Given the description of an element on the screen output the (x, y) to click on. 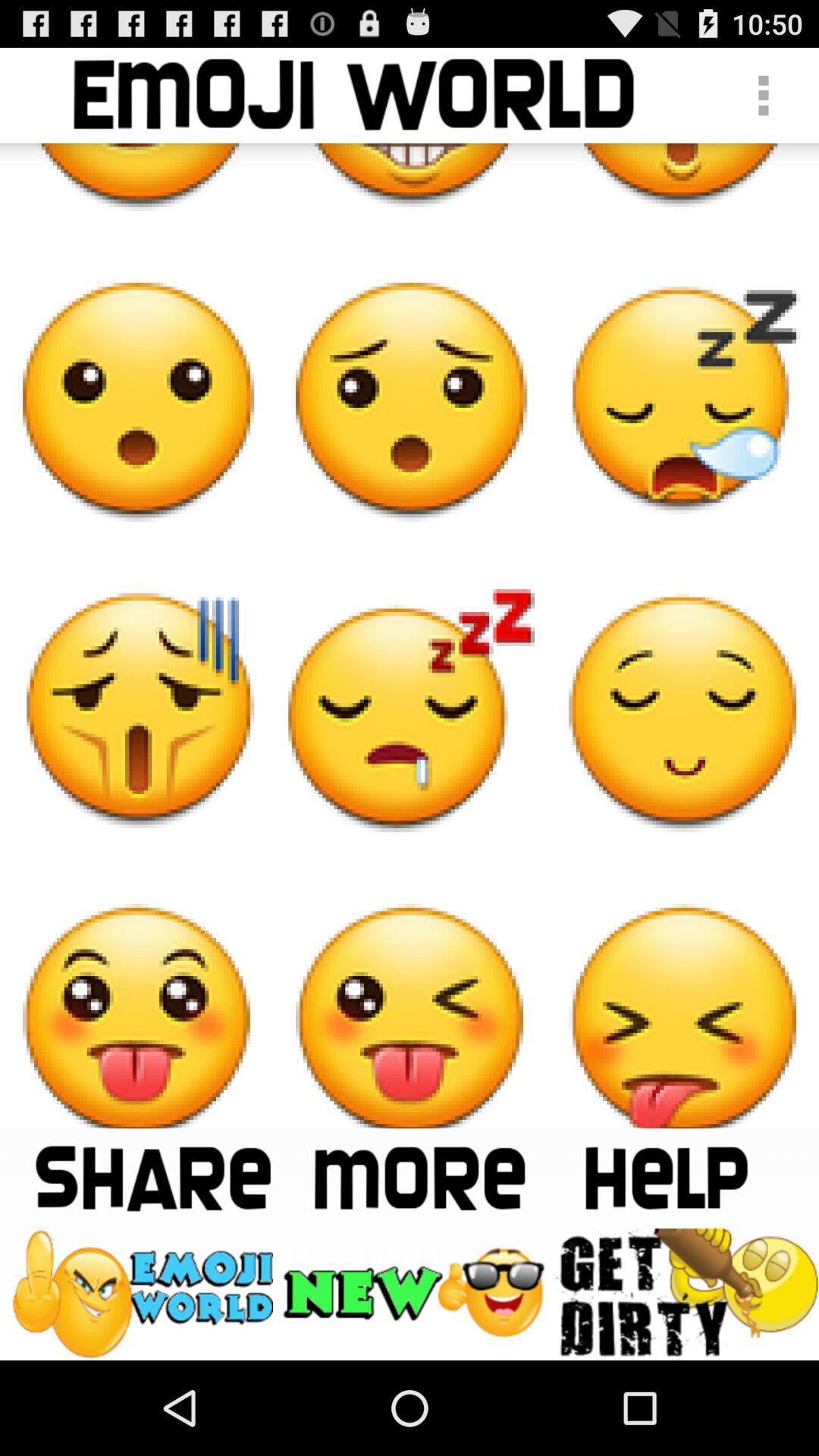
ask help (665, 1177)
